Given the description of an element on the screen output the (x, y) to click on. 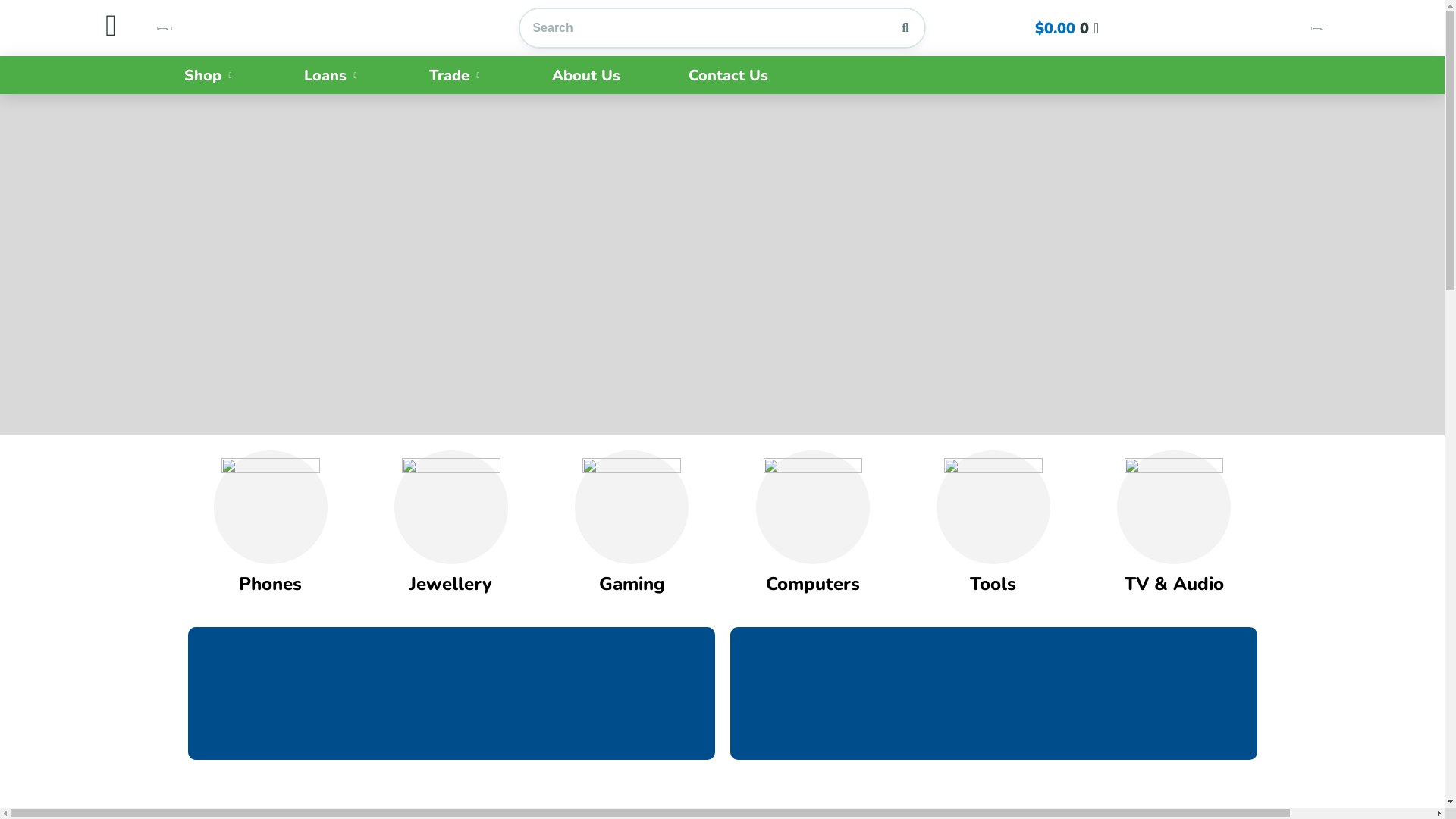
About Us Element type: text (585, 75)
Phones Element type: text (269, 583)
Contact Us Element type: text (728, 75)
Computers Element type: text (812, 583)
Loans Element type: text (332, 75)
Tools Element type: text (992, 583)
Trade Element type: text (456, 75)
Jewellery Element type: text (450, 583)
TV & Audio Element type: text (1173, 583)
Gaming Element type: text (632, 583)
$0.00
0 Element type: text (1066, 28)
Shop Element type: text (209, 75)
